Given the description of an element on the screen output the (x, y) to click on. 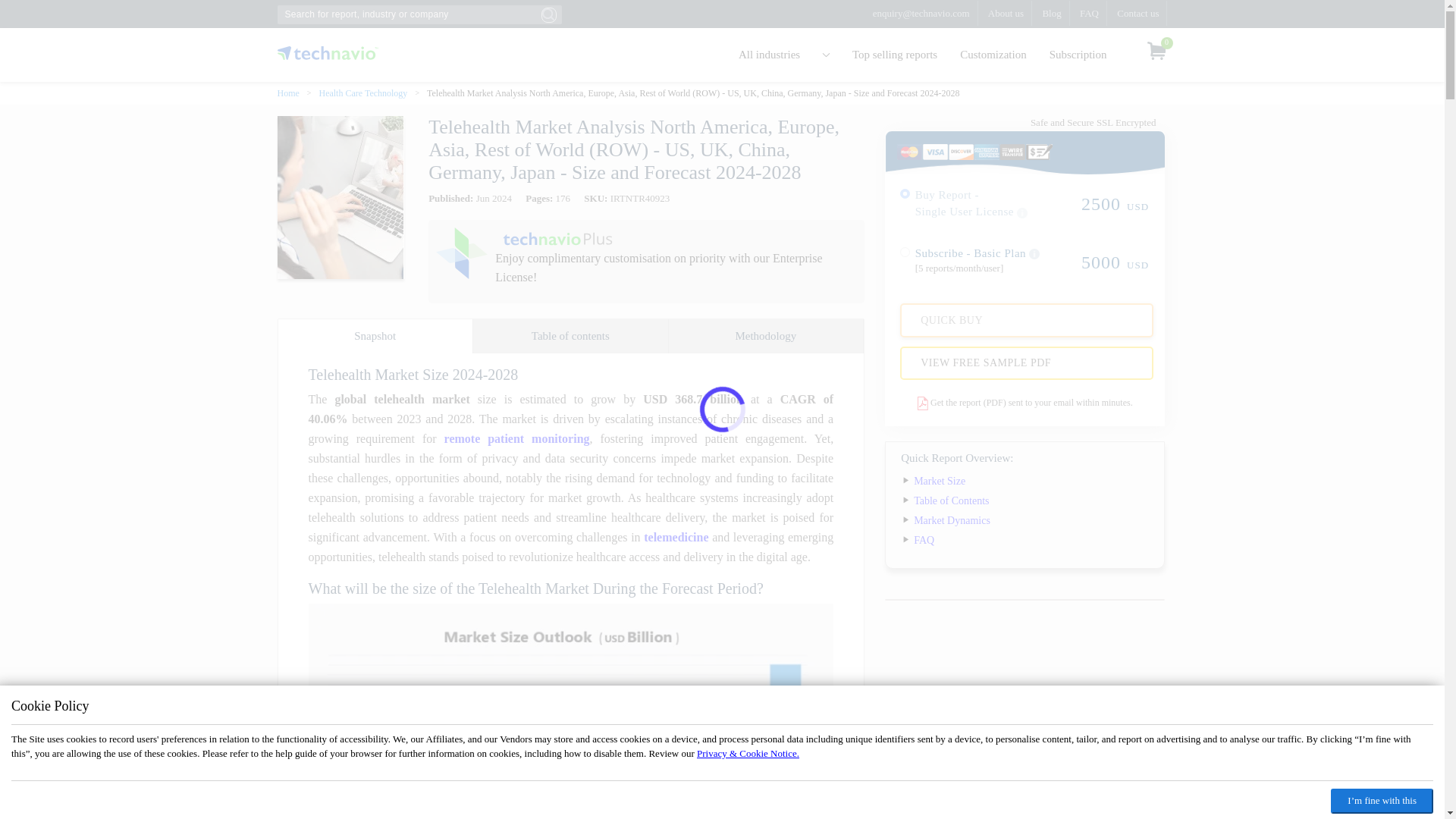
FAQ (1088, 12)
Contact us (1138, 12)
Subscription (1077, 54)
on (904, 252)
Customization (993, 54)
All industries (783, 54)
305968 (904, 194)
Top selling reports (894, 54)
About us (1005, 12)
Blog (1050, 12)
